Given the description of an element on the screen output the (x, y) to click on. 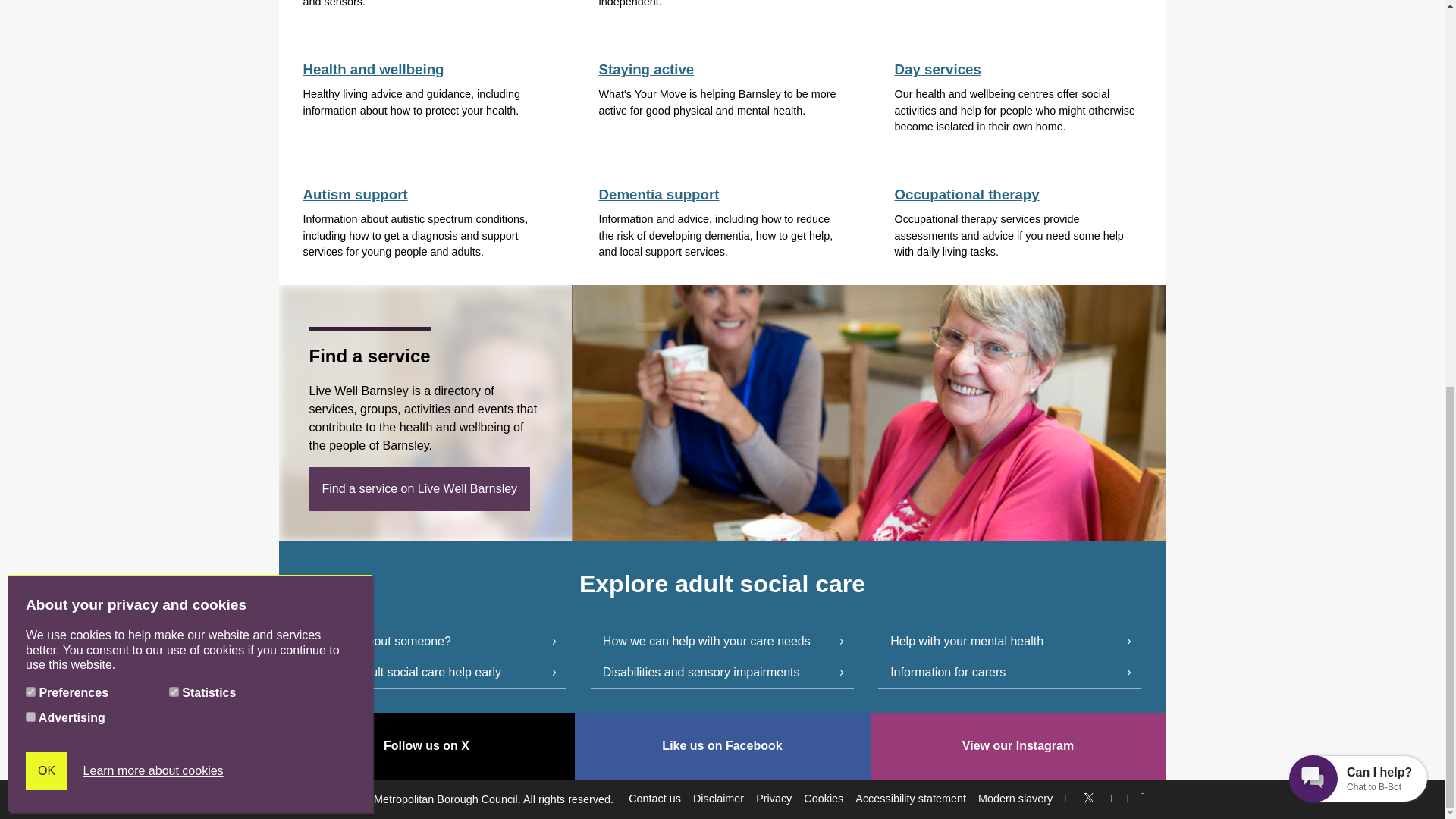
How we can help with your care needs (722, 641)
Find a service on Live Well Barnsley (419, 488)
Information for carers (1009, 672)
OK (46, 39)
Getting adult social care help early (434, 672)
Day services (936, 68)
Follow us on X (1088, 794)
OK (46, 39)
Autism support (354, 194)
Chat Widget (1358, 45)
Health and wellbeing (373, 68)
Help with your mental health (1009, 641)
Dementia support (658, 194)
Learn more about cookies (153, 39)
Disabilities and sensory impairments (722, 672)
